Given the description of an element on the screen output the (x, y) to click on. 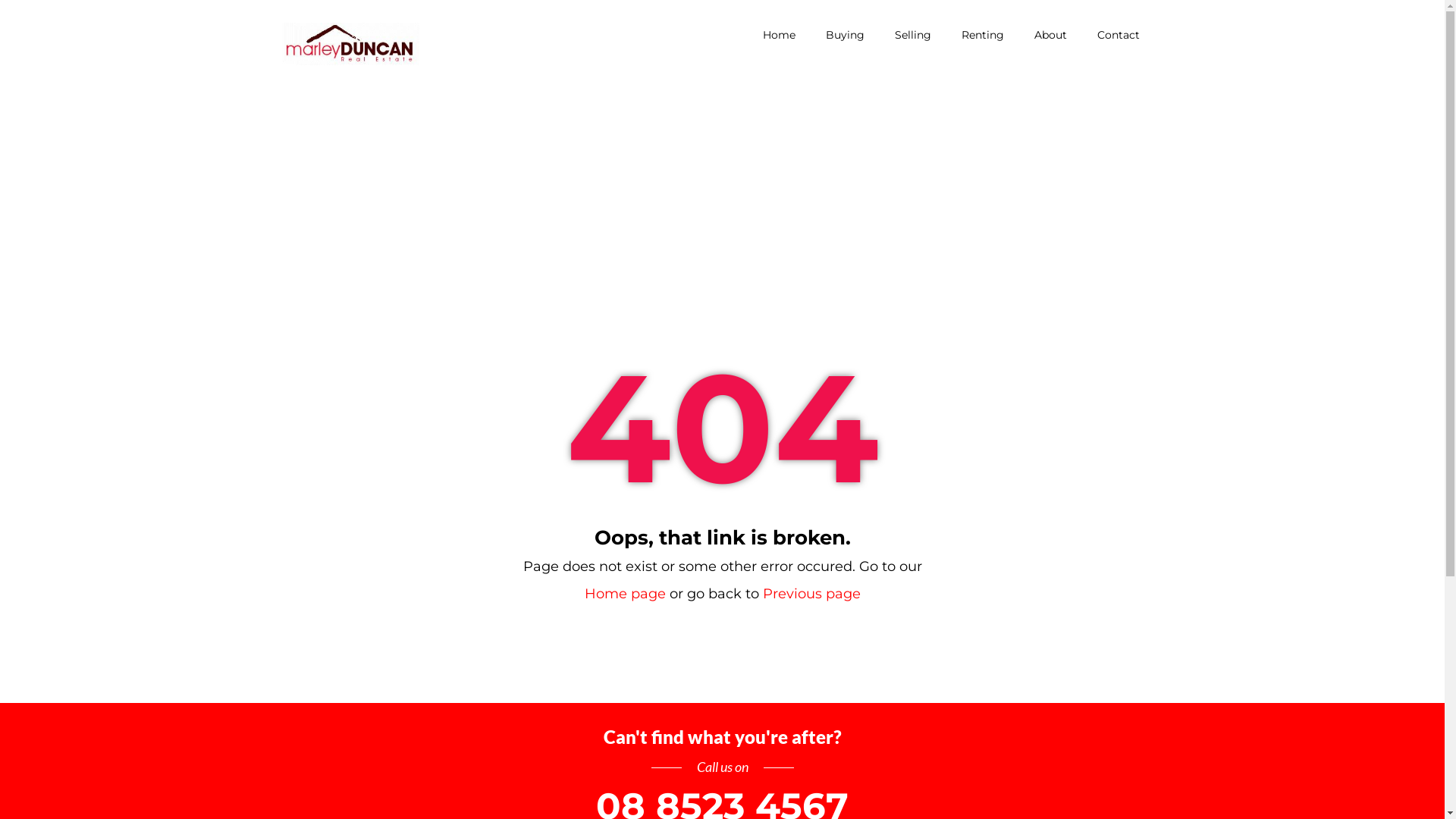
Buying Element type: text (843, 34)
Selling Element type: text (912, 34)
Contact Element type: text (1117, 34)
Marley Duncan Real Estate Element type: hover (349, 43)
Previous page Element type: text (811, 593)
Home Element type: text (778, 34)
Home page Element type: text (624, 593)
Renting Element type: text (982, 34)
About Element type: text (1050, 34)
